Given the description of an element on the screen output the (x, y) to click on. 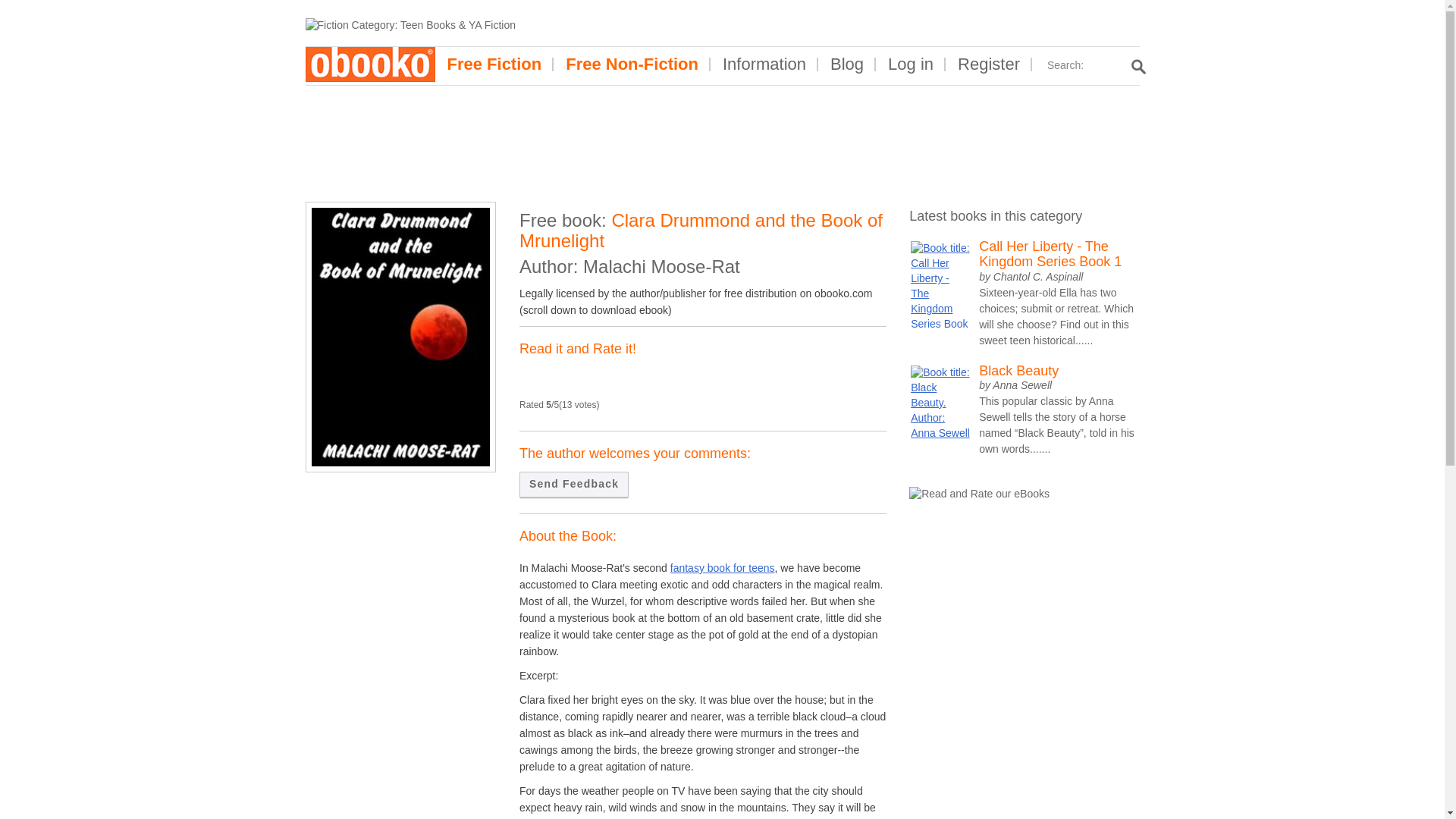
Information (764, 63)
5 (579, 378)
4 (567, 378)
4 stars out of 5 (567, 378)
fantasy book for teens (721, 567)
Send Feedback (573, 484)
Log in (910, 63)
Blog (847, 63)
Register (988, 63)
5 stars out of 5 (579, 378)
